Given the description of an element on the screen output the (x, y) to click on. 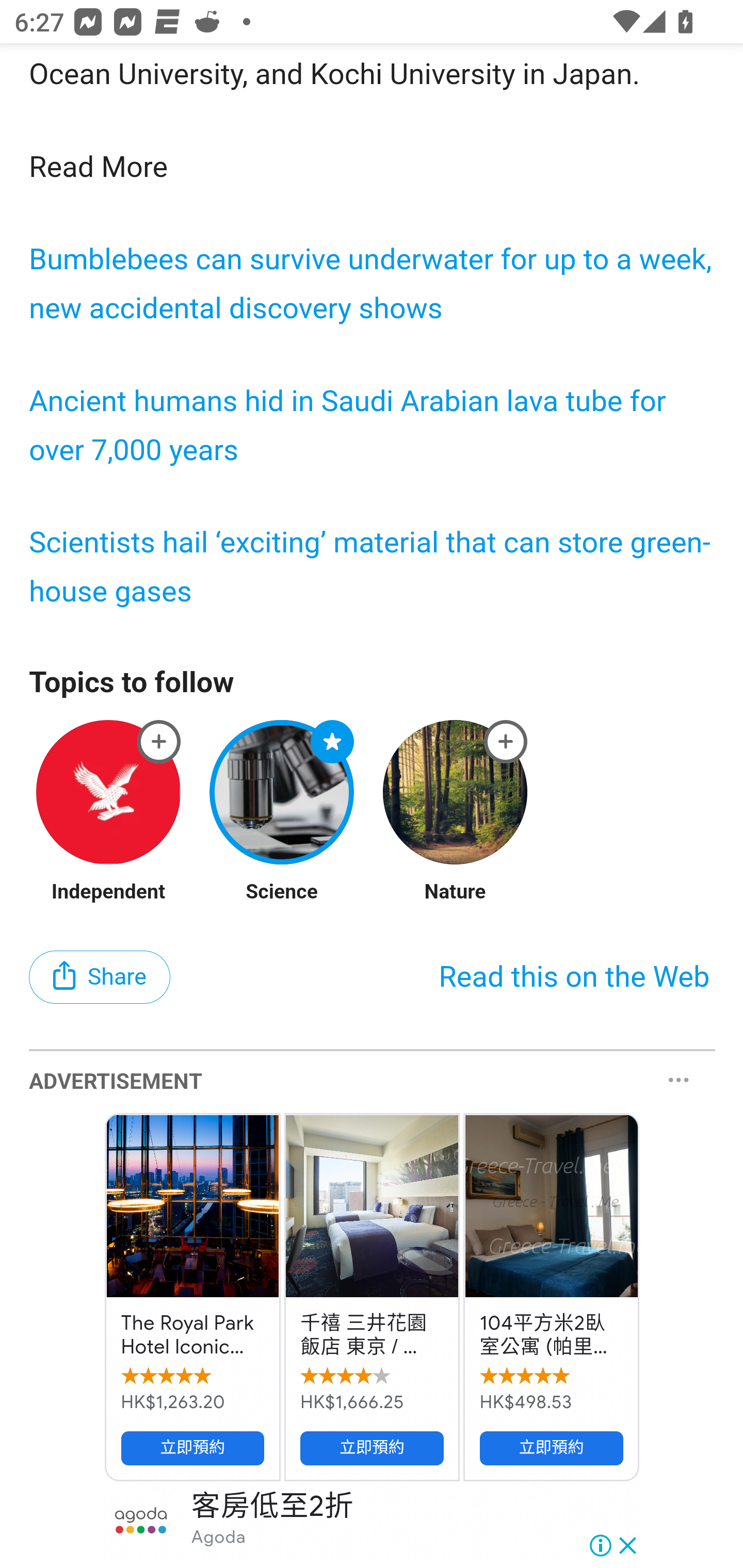
algae-evolution-agriculture-plant-history-b2536250 (159, 742)
algae-evolution-agriculture-plant-history-b2536250 (332, 742)
algae-evolution-agriculture-plant-history-b2536250 (505, 742)
Independent (108, 893)
Science (282, 893)
Nature (454, 893)
Read this on the Web (573, 976)
Share (99, 978)
